Given the description of an element on the screen output the (x, y) to click on. 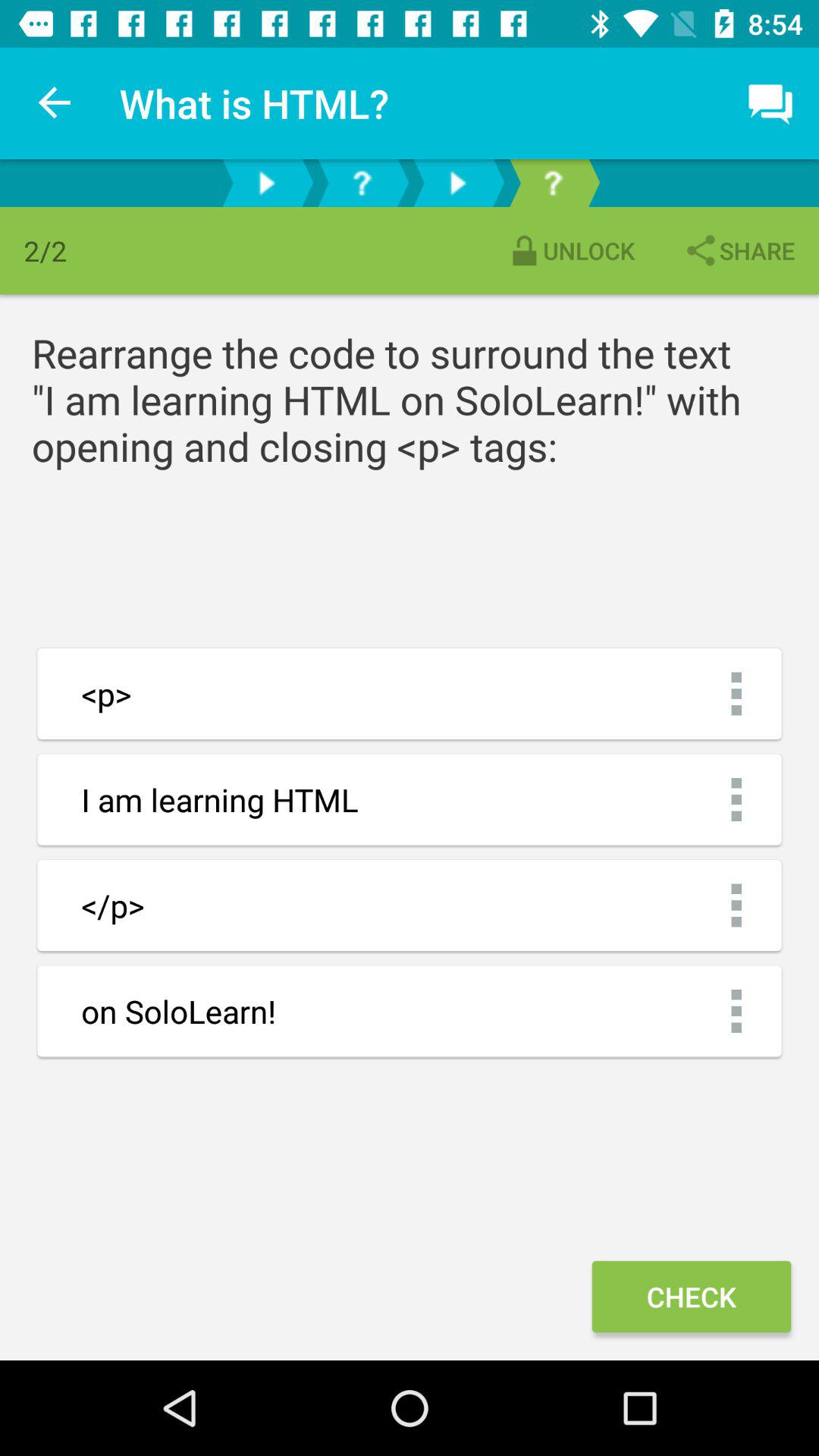
view lesson (457, 183)
